Given the description of an element on the screen output the (x, y) to click on. 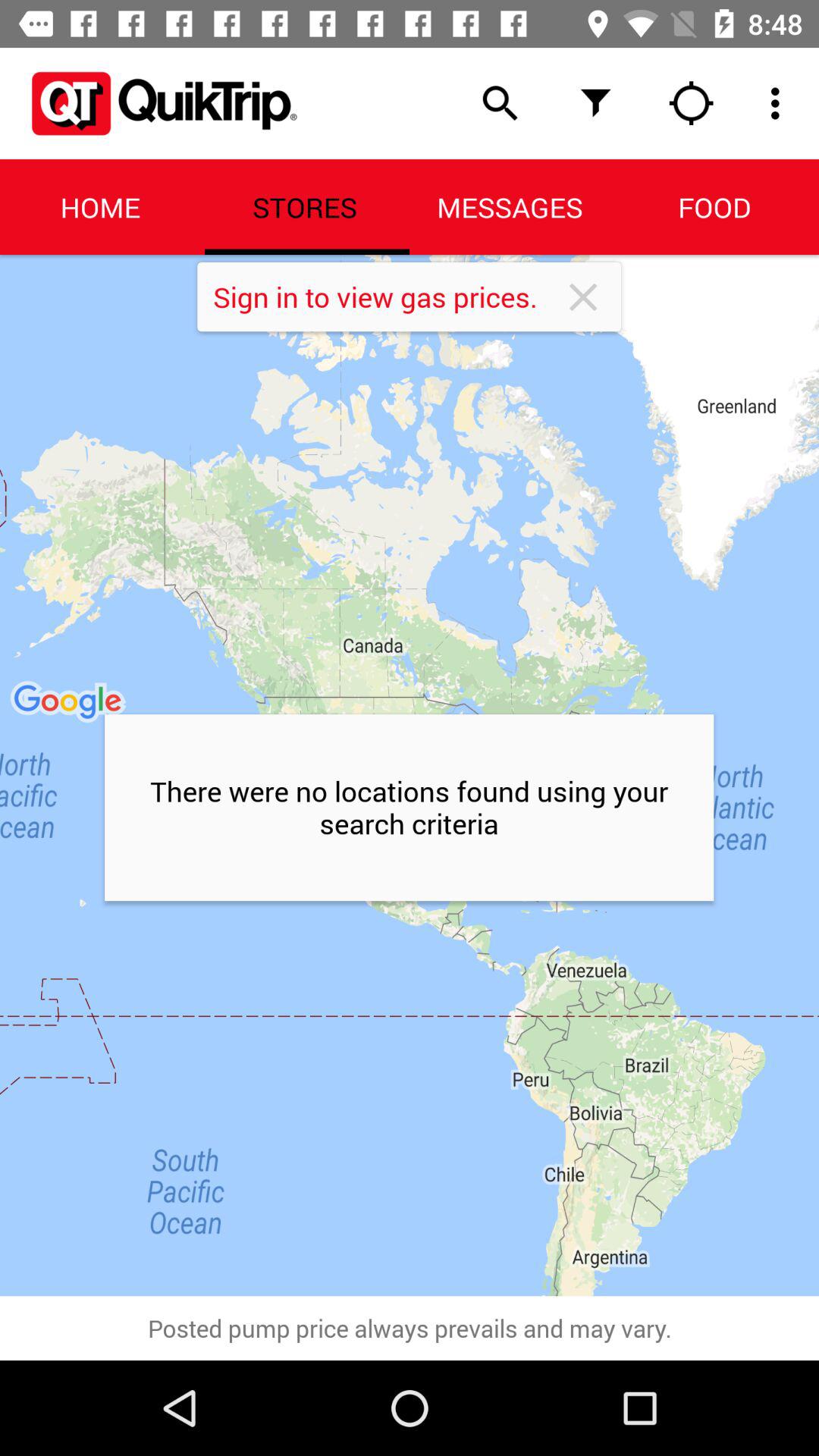
press item above food icon (691, 103)
